Given the description of an element on the screen output the (x, y) to click on. 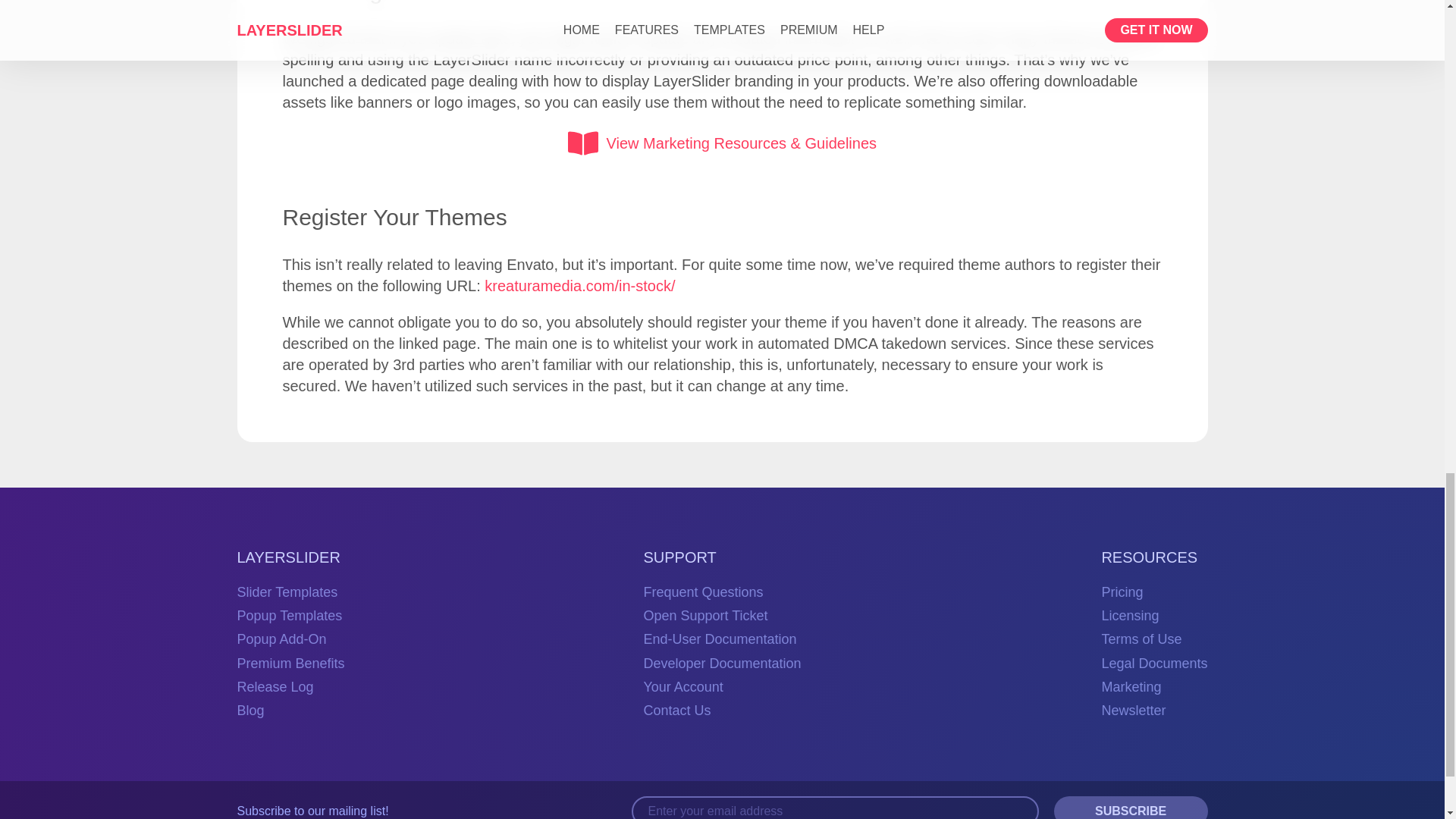
Slider Templates (286, 591)
Popup Templates (288, 615)
Popup Add-On (280, 639)
